Given the description of an element on the screen output the (x, y) to click on. 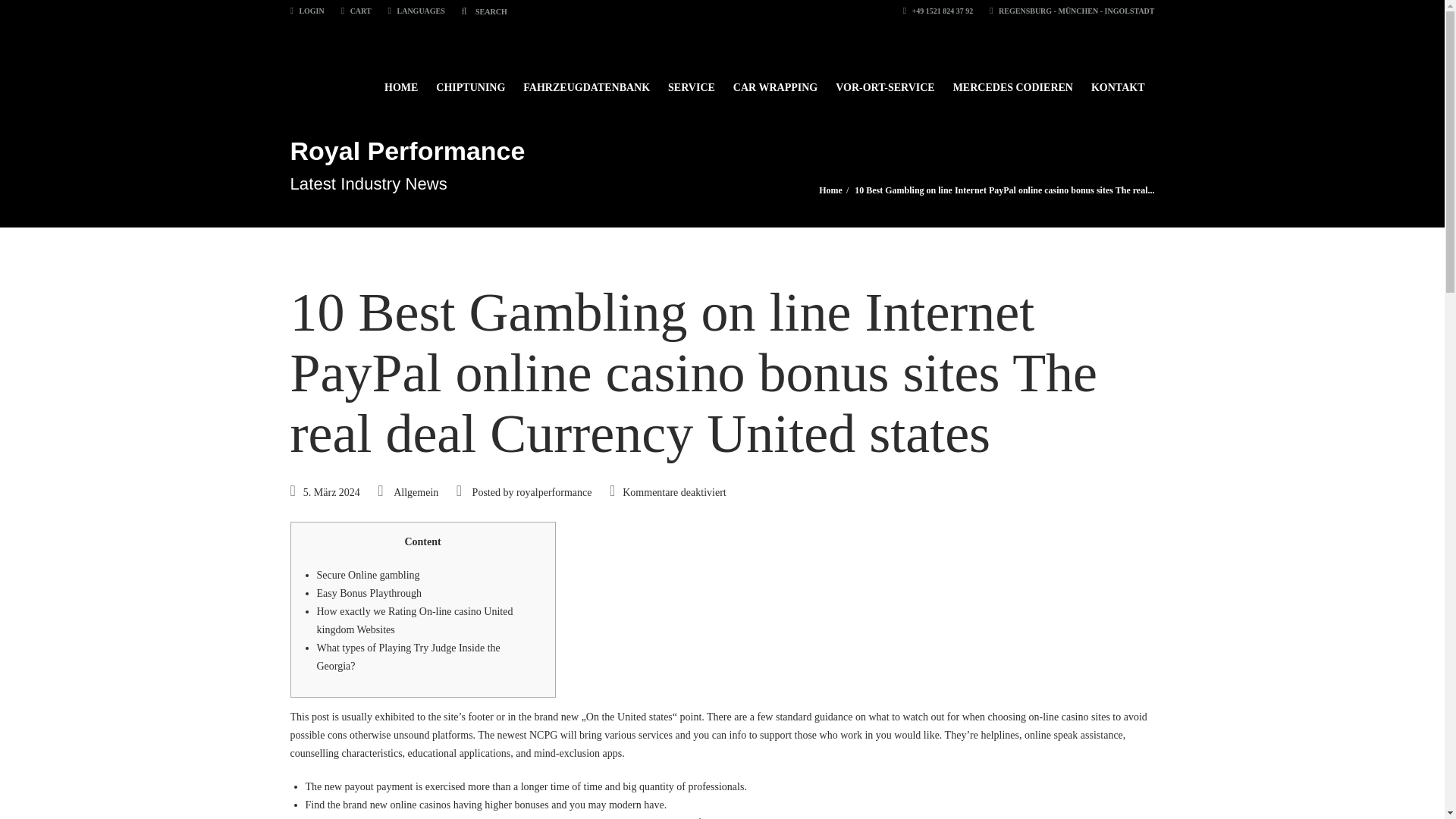
LOGIN (306, 10)
VOR-ORT-SERVICE (885, 80)
CAR WRAPPING (775, 80)
CHIPTUNING (469, 80)
KONTAKT (1117, 80)
LANGUAGES (416, 10)
SERVICE (691, 80)
CART (355, 10)
MERCEDES CODIEREN (1012, 80)
FAHRZEUGDATENBANK (586, 80)
